Given the description of an element on the screen output the (x, y) to click on. 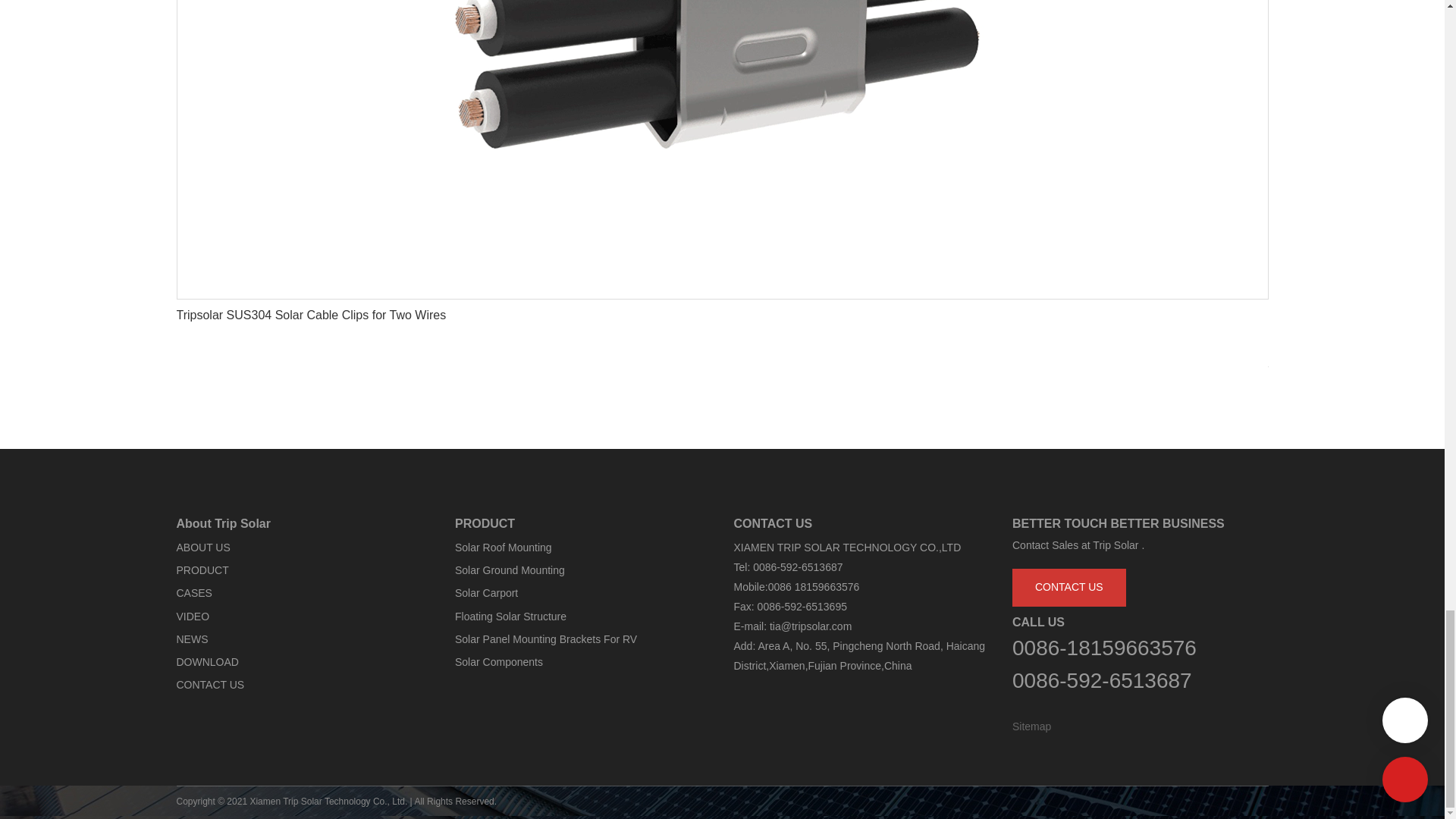
Solar Roof Mounting (502, 547)
ABOUT US (203, 547)
CONTACT US (210, 684)
PRODUCT (202, 570)
NEWS (192, 639)
Solar Ground Mounting (509, 570)
VIDEO (192, 616)
CASES (193, 592)
DOWNLOAD (207, 662)
